Given the description of an element on the screen output the (x, y) to click on. 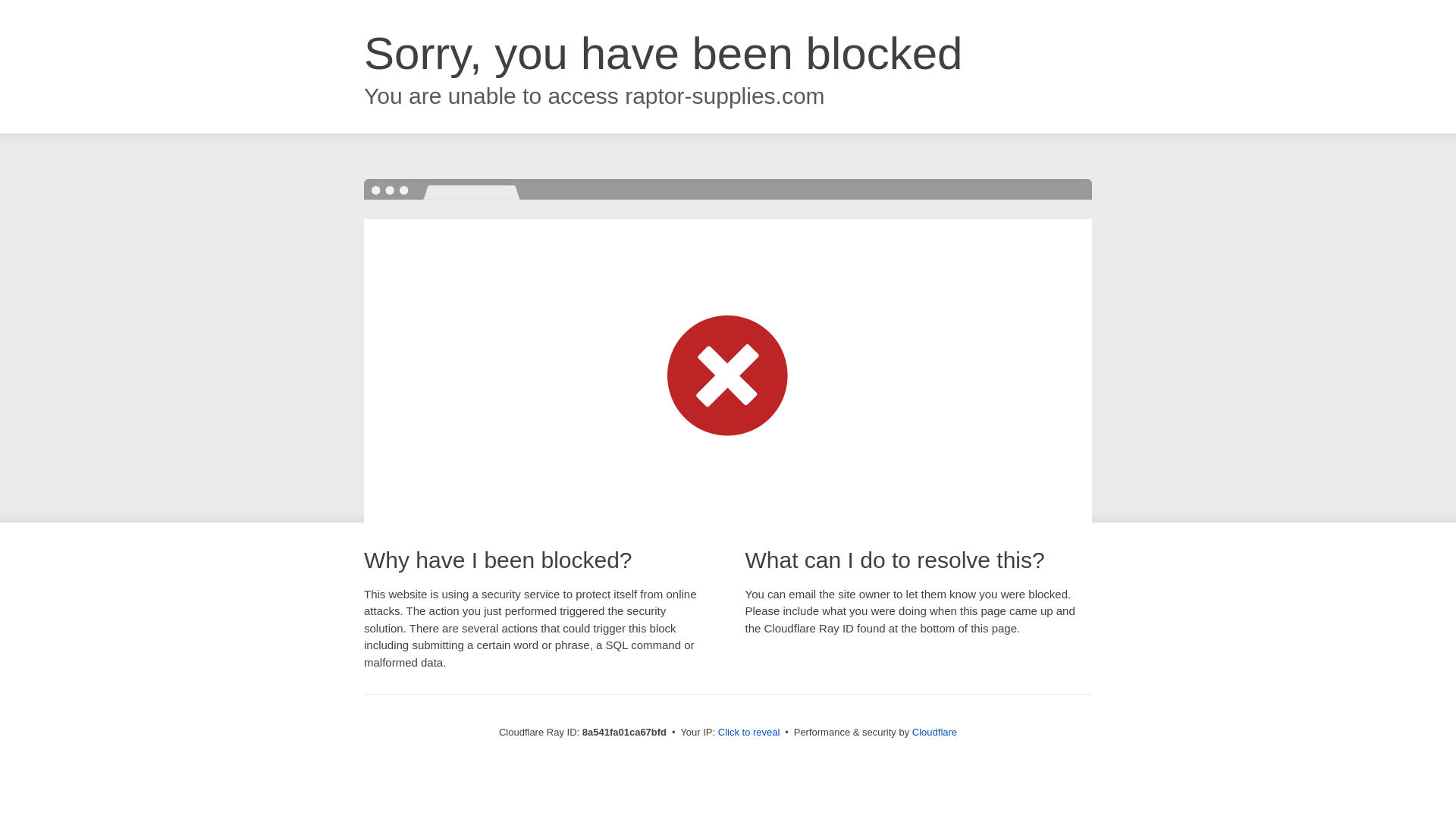
Click to reveal (748, 732)
Cloudflare (934, 731)
